Given the description of an element on the screen output the (x, y) to click on. 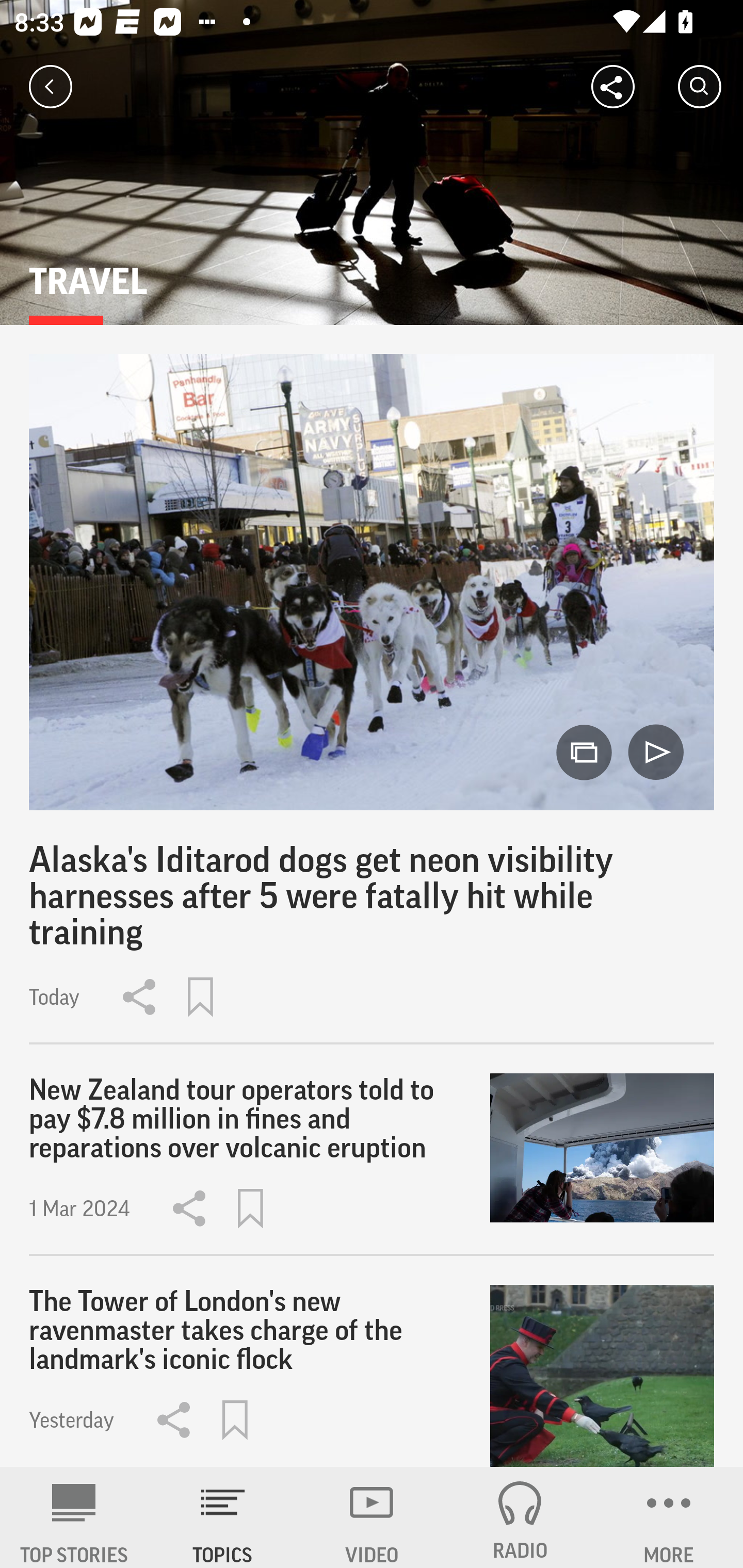
AP News TOP STORIES (74, 1517)
TOPICS (222, 1517)
VIDEO (371, 1517)
RADIO (519, 1517)
MORE (668, 1517)
